Given the description of an element on the screen output the (x, y) to click on. 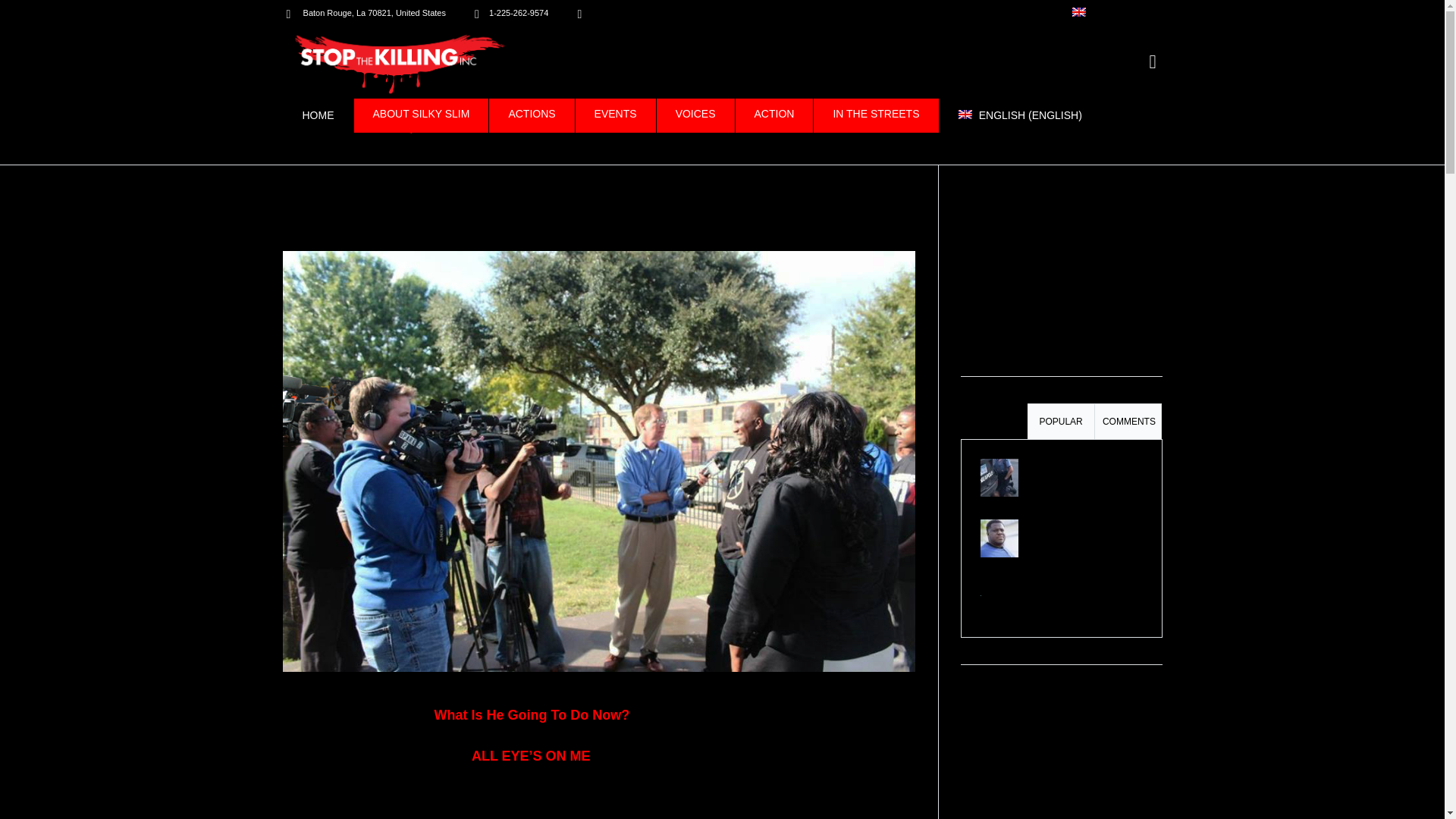
Action (774, 115)
Home (962, 13)
Actions (969, 148)
About Silky Slim (840, 13)
IN THE STREETS (421, 115)
About Silky Slim (782, 13)
